Given the description of an element on the screen output the (x, y) to click on. 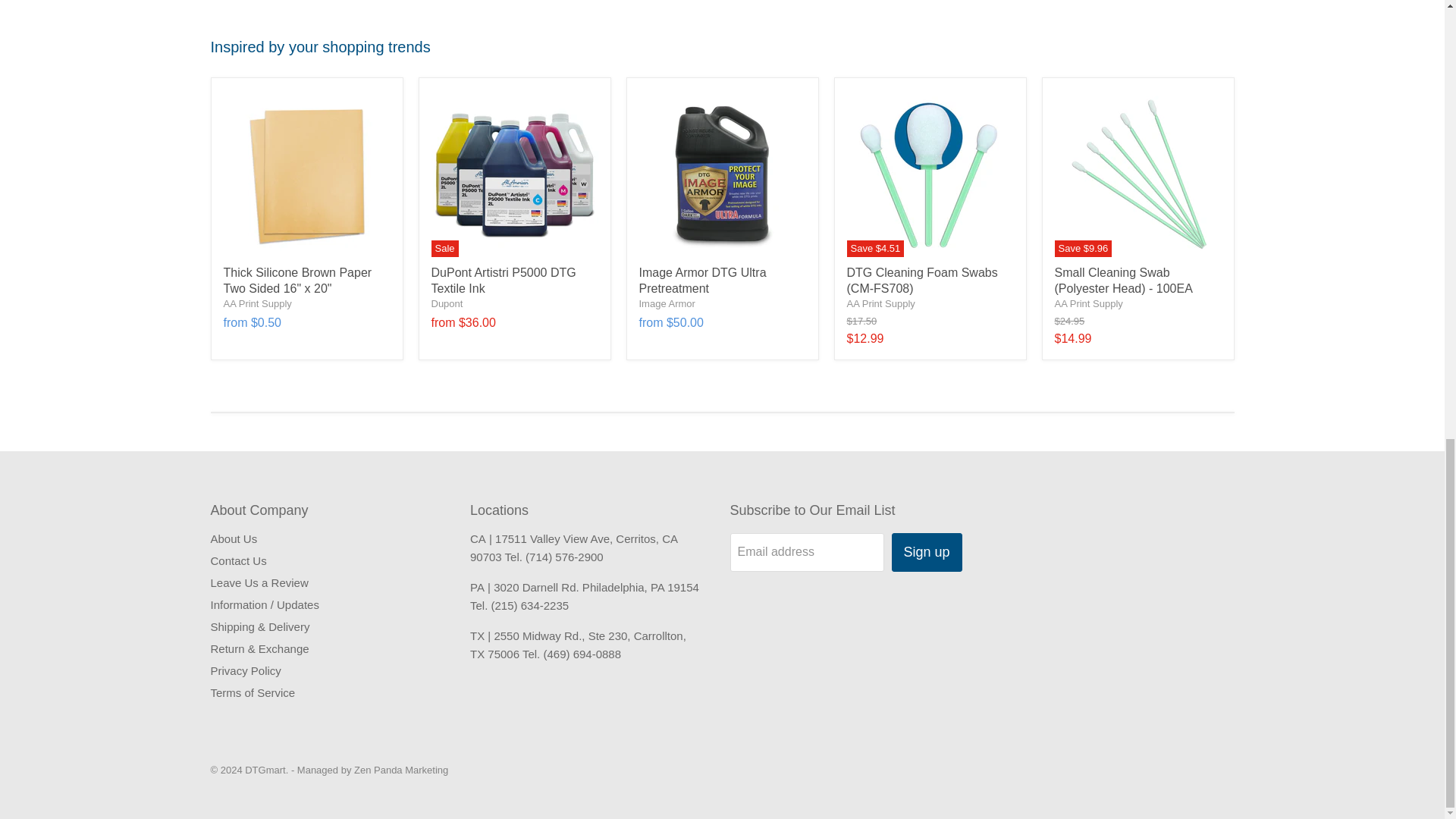
AA Print Supply (879, 303)
Image Armor (666, 303)
Dupont (446, 303)
AA Print Supply (256, 303)
AA Print Supply (1088, 303)
